Given the description of an element on the screen output the (x, y) to click on. 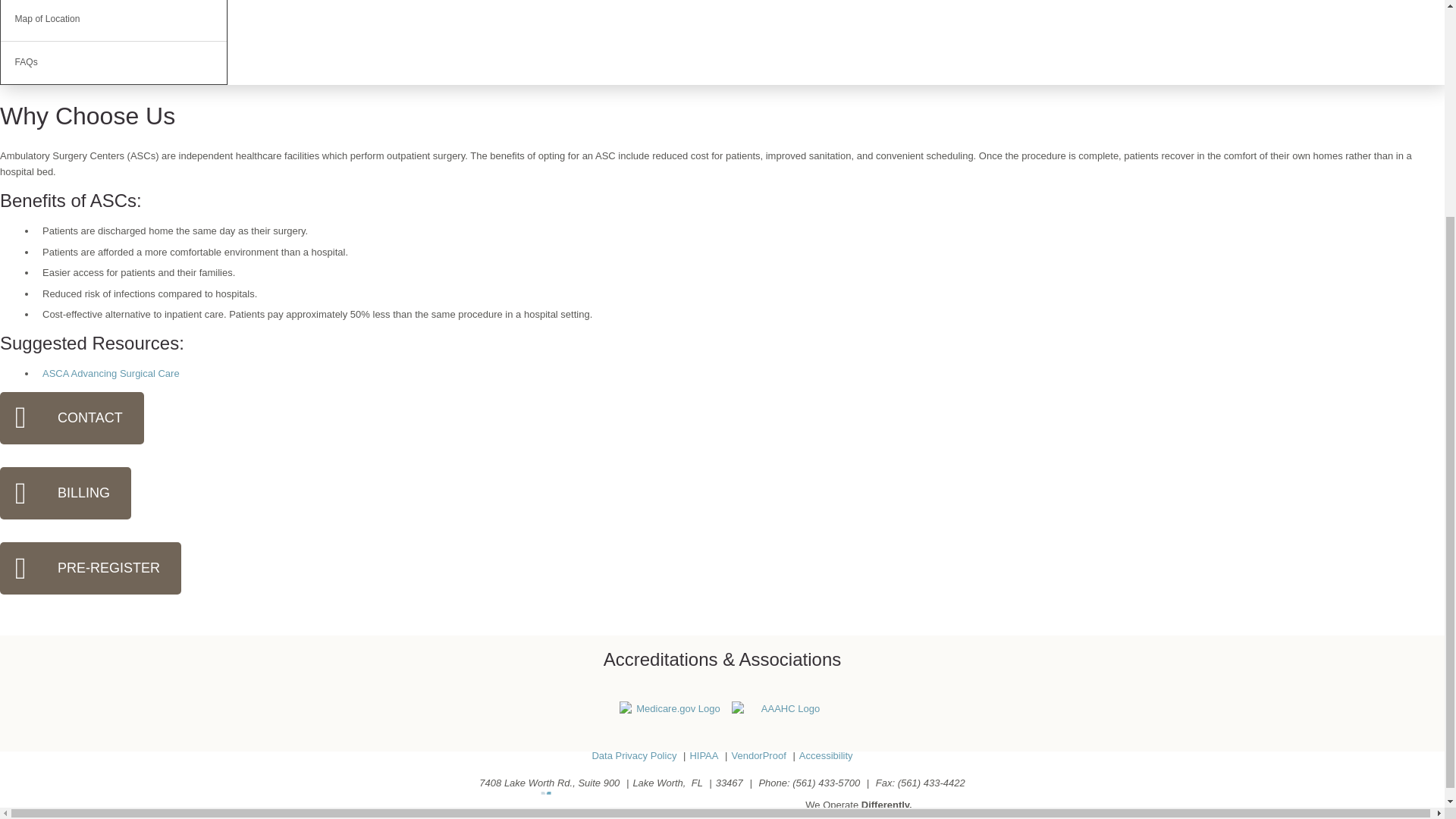
Accessibility (826, 756)
CONTACT (72, 418)
FAQs (114, 63)
PRE-REGISTER (90, 568)
BILLING (65, 492)
ASCA Advancing Surgical Care (110, 373)
Map of Location (114, 20)
Data Privacy Policy (634, 756)
VendorProof (758, 756)
Pre-Register (90, 568)
HIPAA (702, 756)
